Given the description of an element on the screen output the (x, y) to click on. 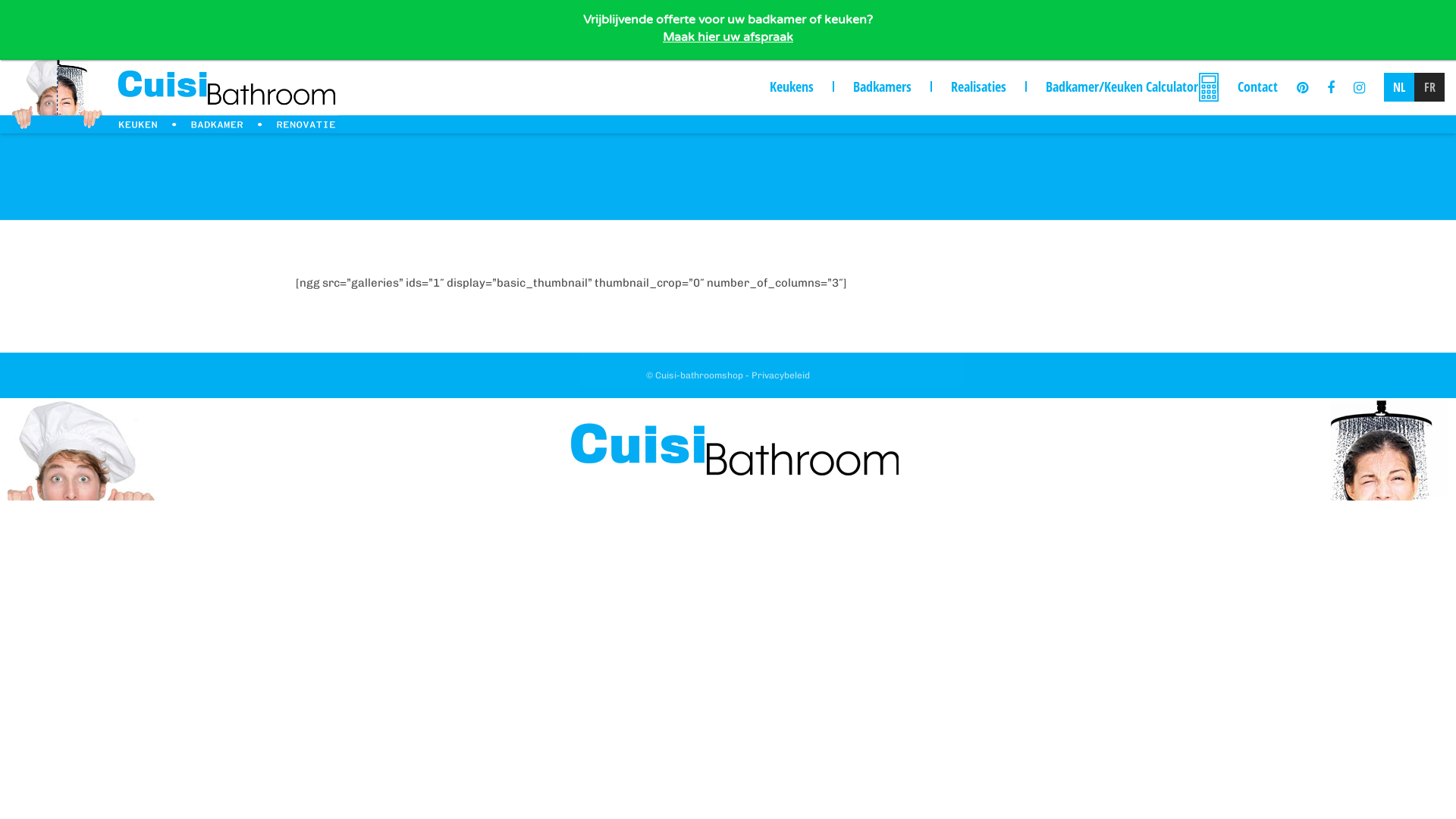
Keukens Element type: text (791, 86)
Badkamers Element type: text (882, 86)
Realisaties Element type: text (978, 86)
Contact Element type: text (1257, 86)
Badkamer/Keuken Calculator Element type: text (1121, 86)
